Given the description of an element on the screen output the (x, y) to click on. 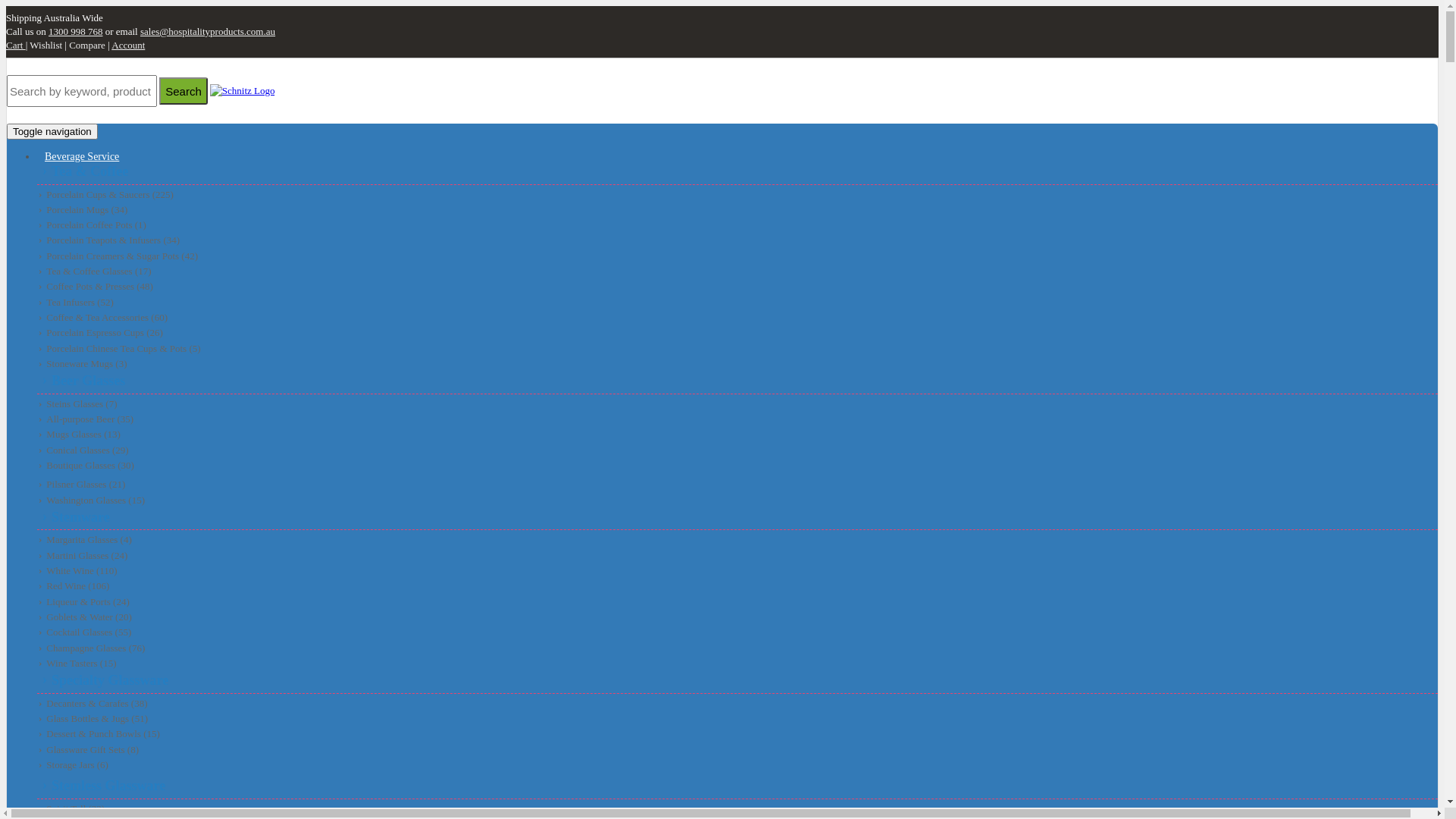
Martini Glasses (24) Element type: text (737, 555)
Cart Element type: text (15, 44)
White Wine (110) Element type: text (737, 570)
Porcelain Chinese Tea Cups & Pots (5) Element type: text (737, 348)
Compare Element type: text (88, 44)
Tea Infusers (52) Element type: text (737, 302)
Mugs Glasses (13) Element type: text (737, 434)
sales@hospitalityproducts.com.au Element type: text (207, 31)
Tea & Coffee Glasses (17) Element type: text (737, 271)
Wine Tasters (15) Element type: text (737, 663)
Coffee Pots & Presses (48) Element type: text (737, 286)
Stemless Glassware Element type: text (739, 786)
Toggle navigation Element type: text (51, 131)
Stoneware Mugs (3) Element type: text (737, 363)
Glassware Gift Sets (8) Element type: text (737, 749)
Beverage Service Element type: text (81, 154)
Storage Jars (6) Element type: text (737, 765)
Specialty Glassware Element type: text (739, 680)
Boutique Glasses (30) Element type: text (737, 465)
Porcelain Espresso Cups (26) Element type: text (737, 332)
Steins Glasses (7) Element type: text (737, 404)
Stemware Element type: text (739, 517)
Porcelain Cups & Saucers (225) Element type: text (737, 194)
Champagne Glasses (76) Element type: text (737, 647)
Conical Glasses (29) Element type: text (737, 450)
Goblets & Water (20) Element type: text (737, 617)
Dessert & Punch Bowls (15) Element type: text (737, 734)
Porcelain Teapots & Infusers (34) Element type: text (737, 240)
Washington Glasses (15) Element type: text (737, 500)
Search Element type: text (183, 90)
Decanters & Carafes (38) Element type: text (737, 703)
Cocktail Glasses (55) Element type: text (737, 632)
1300 998 768 Element type: text (75, 31)
Coffee & Tea Accessories (60) Element type: text (737, 317)
Beer Glasses Element type: text (739, 381)
Porcelain Creamers & Sugar Pots (42) Element type: text (737, 256)
Margarita Glasses (4) Element type: text (737, 539)
Spirit Tall (33) Element type: text (737, 809)
Account Element type: text (127, 44)
Tea & Coffee Element type: text (739, 171)
Pilsner Glasses (21) Element type: text (737, 484)
All-purpose Beer (35) Element type: text (737, 419)
Porcelain Coffee Pots (1) Element type: text (737, 225)
Red Wine (106) Element type: text (737, 586)
Liqueur & Ports (24) Element type: text (737, 602)
Wishlist Element type: text (46, 44)
Porcelain Mugs (34) Element type: text (737, 209)
Glass Bottles & Jugs (51) Element type: text (737, 718)
